Given the description of an element on the screen output the (x, y) to click on. 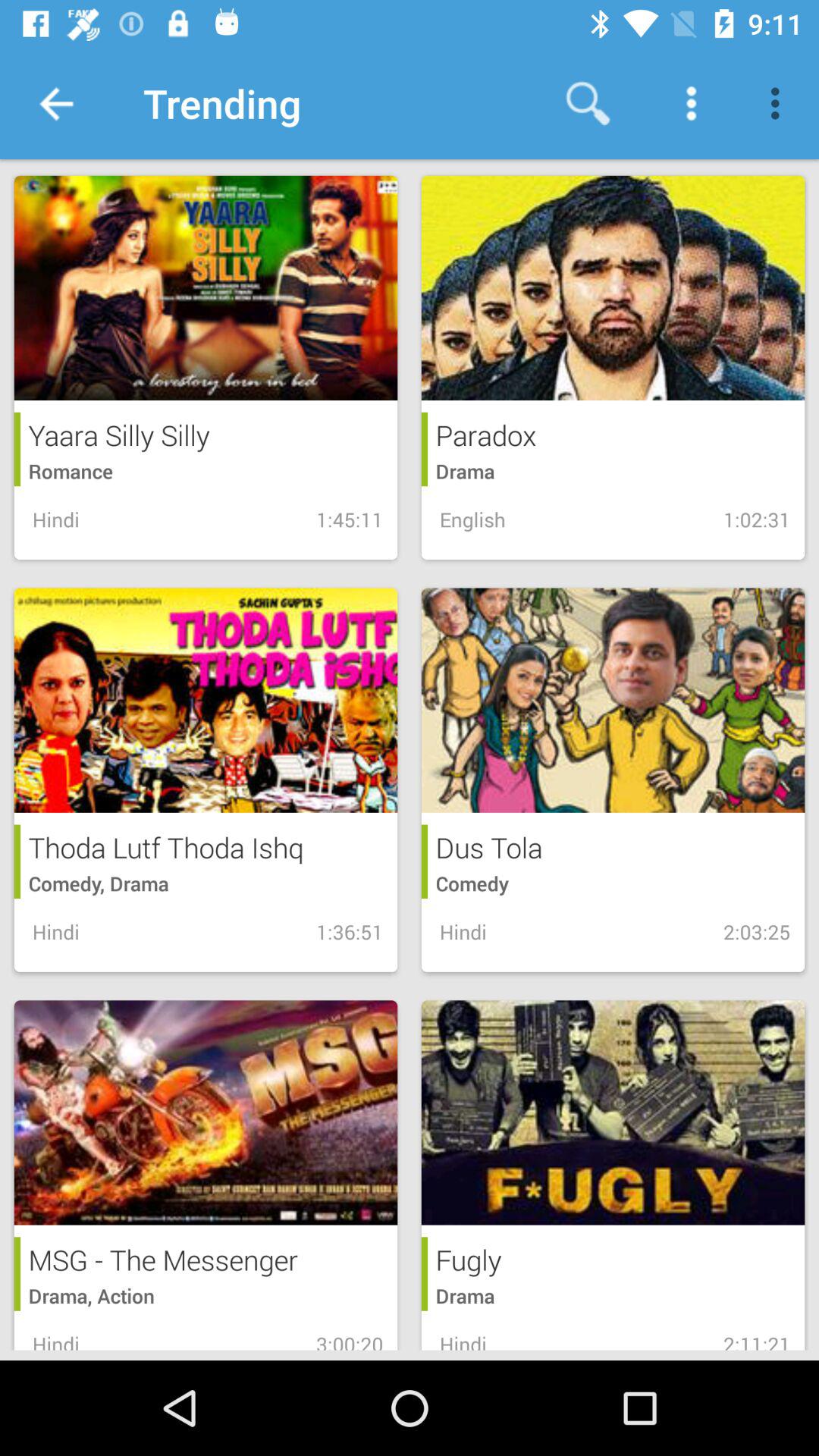
open the app to the left of the trending  app (55, 103)
